Given the description of an element on the screen output the (x, y) to click on. 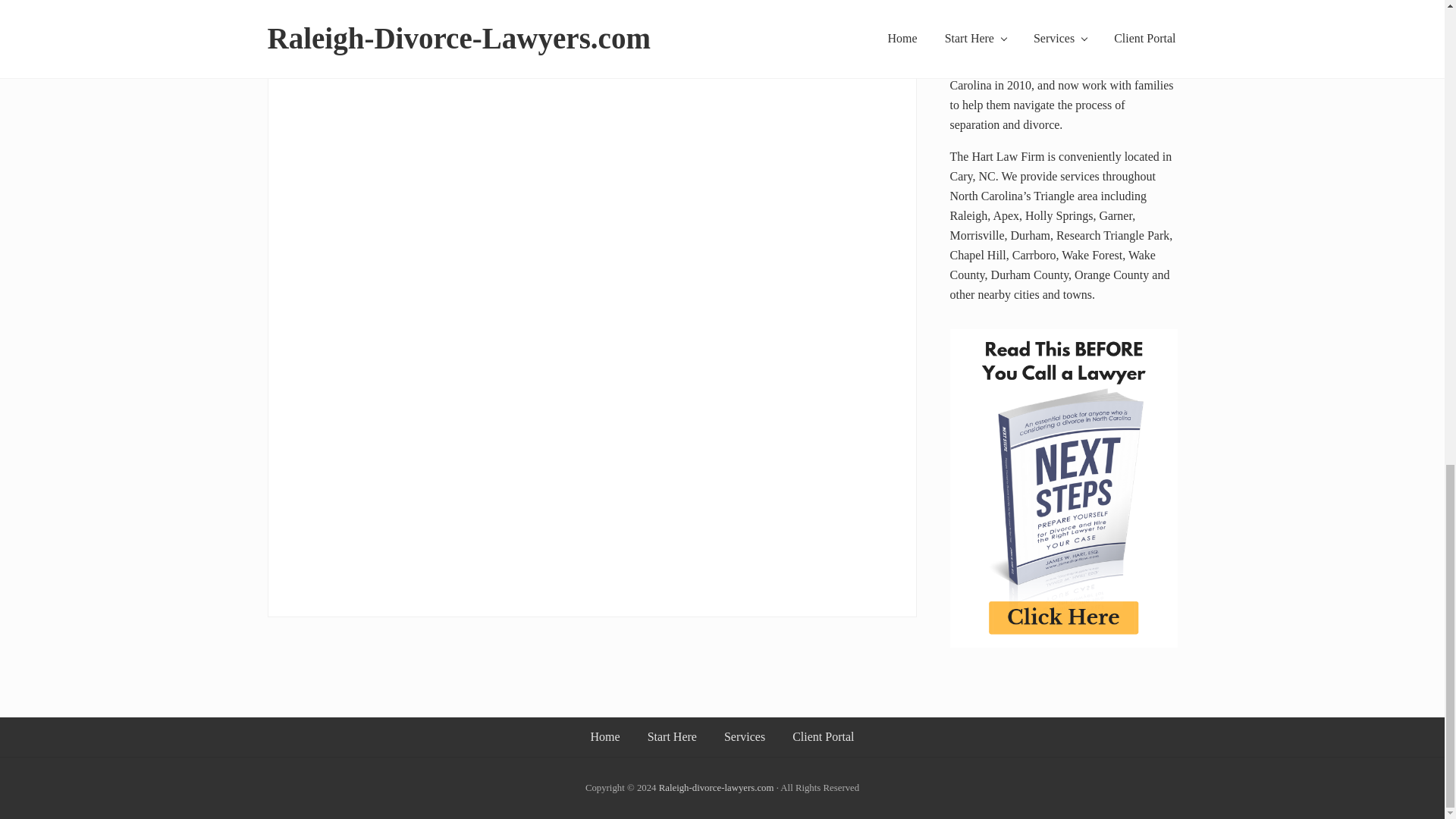
The Hart Law Firm, P.A. (716, 787)
